Given the description of an element on the screen output the (x, y) to click on. 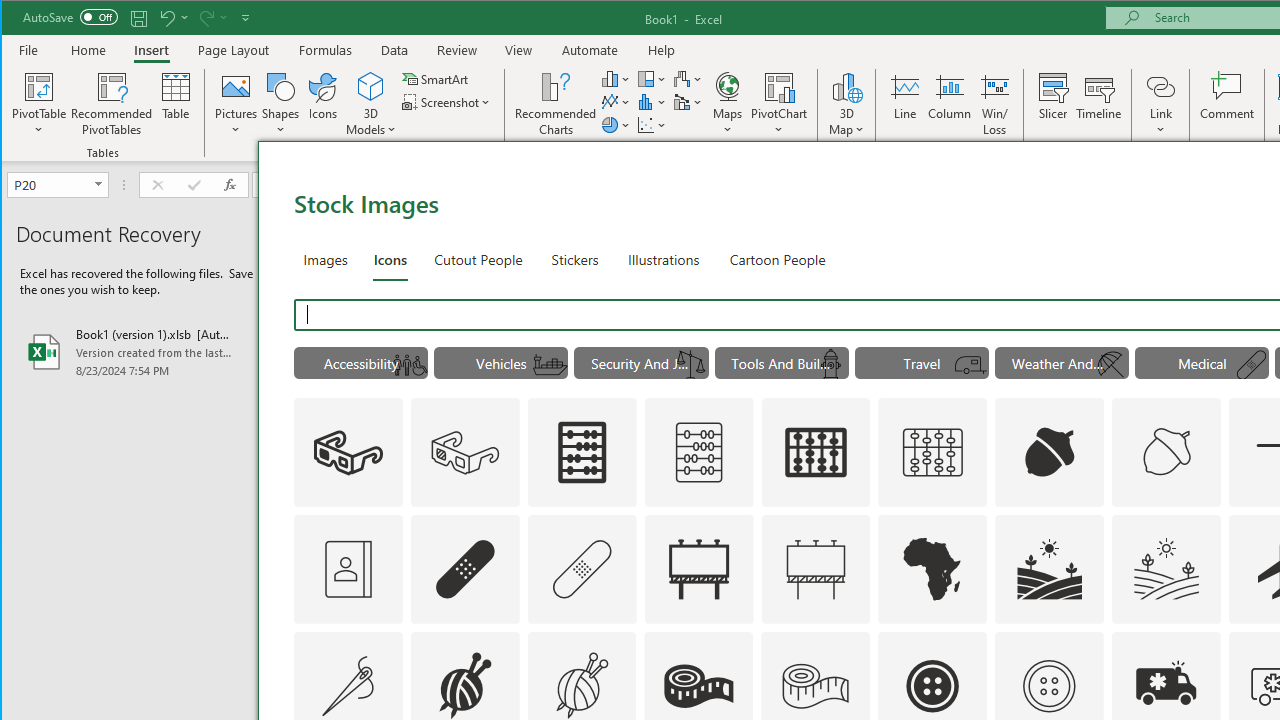
AutomationID: Icons_FireHydrant_M (830, 365)
AutomationID: Icons_3dGlasses_M (464, 452)
PivotTable (39, 104)
Insert Scatter (X, Y) or Bubble Chart (652, 124)
3D Models (371, 104)
Icons (323, 104)
Recommended PivotTables (111, 104)
Slicer... (1052, 104)
AutomationID: Icons_Trailer_M (971, 365)
Insert Statistic Chart (652, 101)
